Given the description of an element on the screen output the (x, y) to click on. 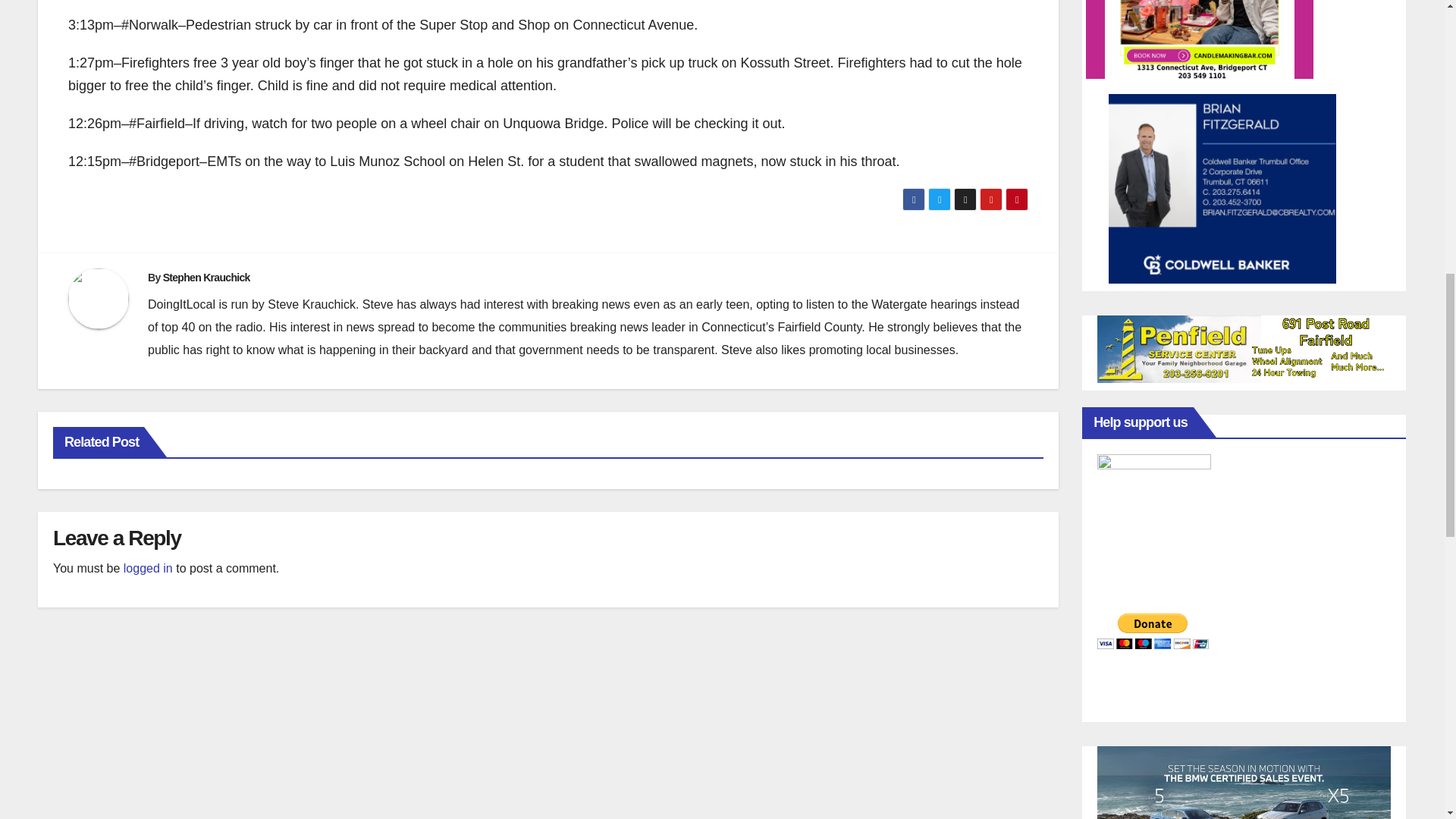
Stephen Krauchick (206, 277)
logged in (148, 567)
